Given the description of an element on the screen output the (x, y) to click on. 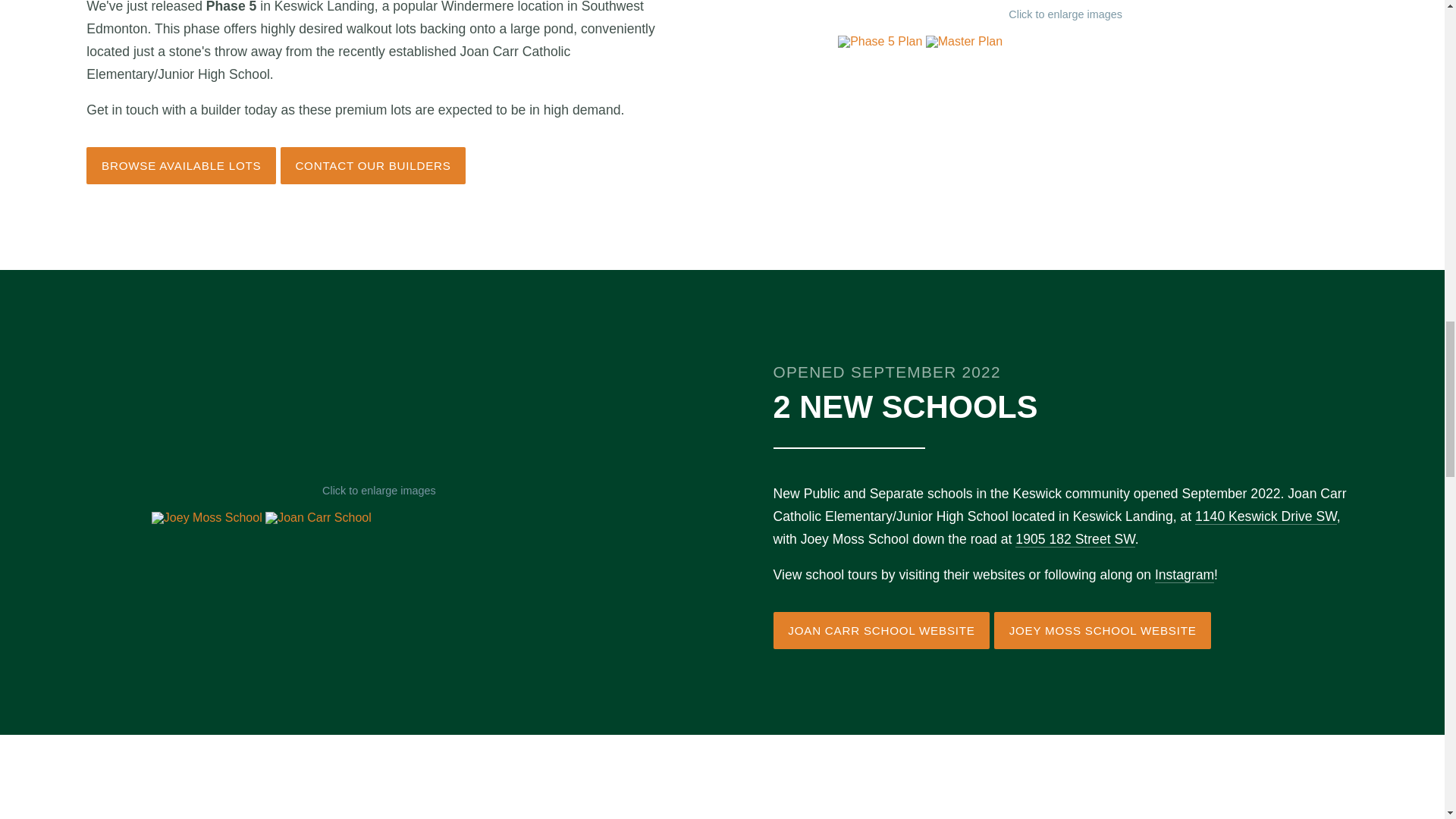
JOEY MOSS SCHOOL WEBSITE (1102, 630)
1140 Keswick Drive SW (1265, 516)
JOAN CARR SCHOOL WEBSITE (881, 630)
Instagram (1184, 575)
CONTACT OUR BUILDERS (373, 165)
BROWSE AVAILABLE LOTS (180, 165)
1905 182 Street SW (1074, 539)
